Given the description of an element on the screen output the (x, y) to click on. 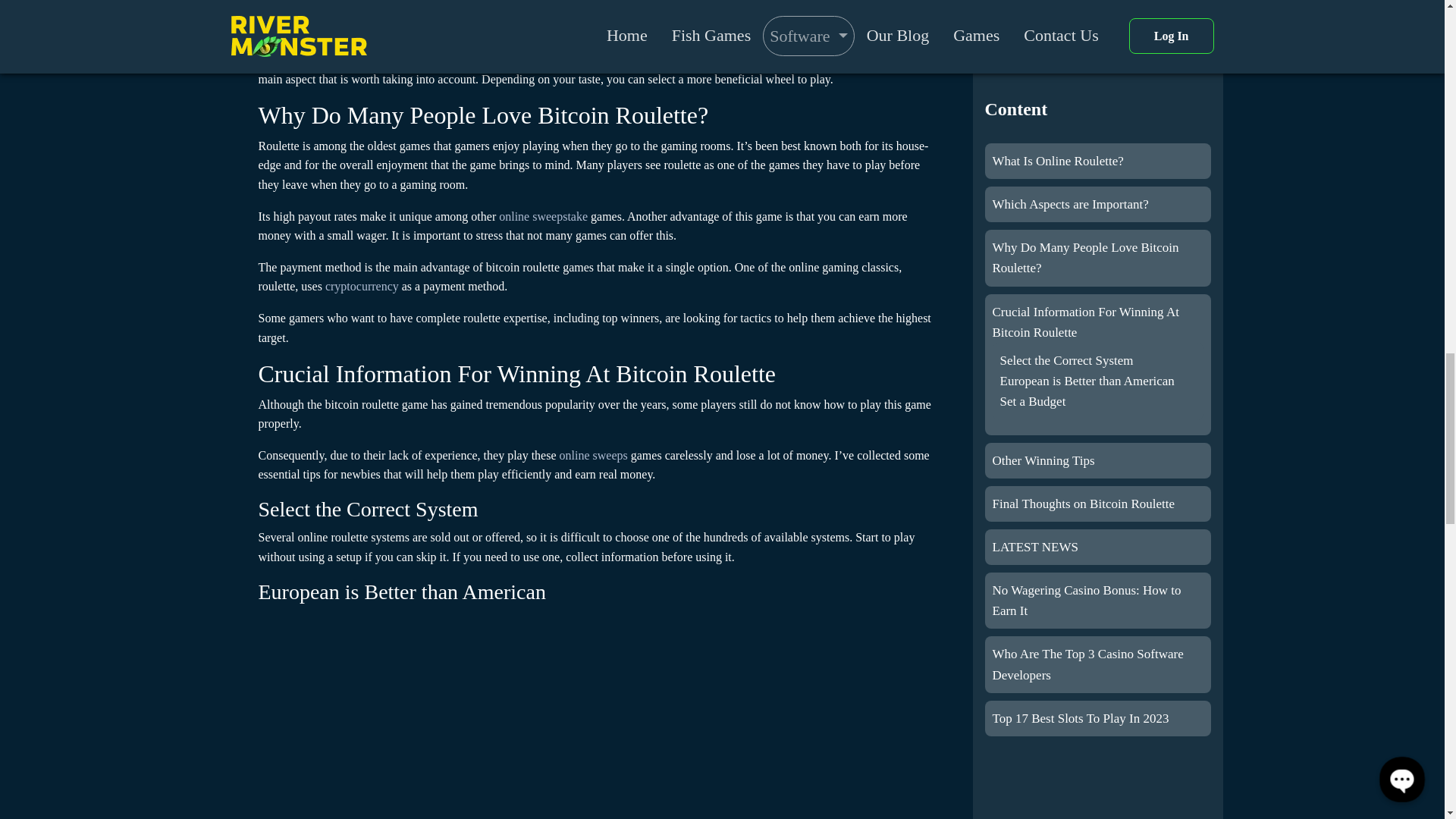
online sweeps (593, 454)
slots (418, 59)
online sweepstake (543, 215)
cryptocurrency (361, 286)
